Given the description of an element on the screen output the (x, y) to click on. 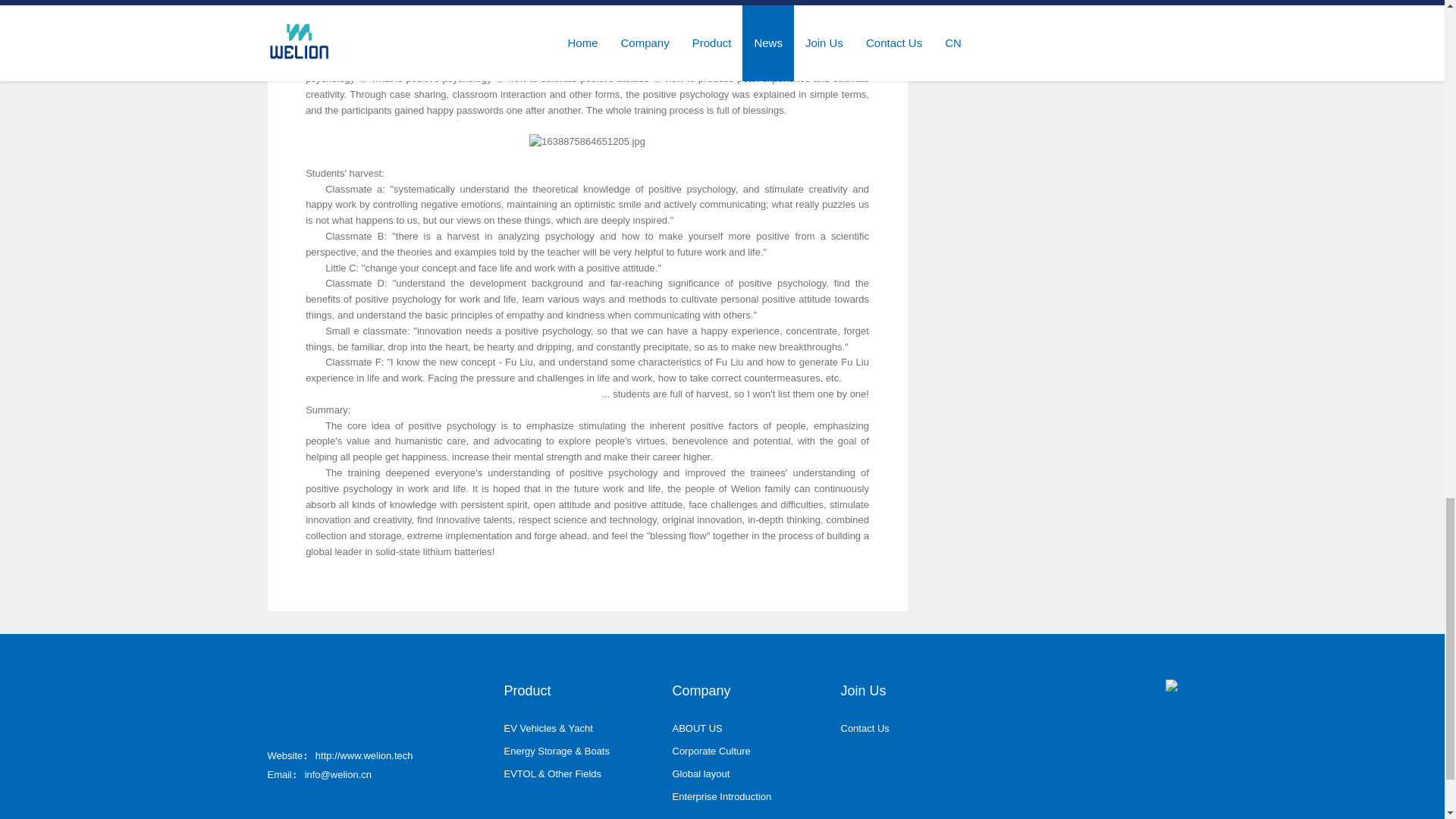
1638875802858292.jpg (587, 4)
1638875864651205.jpg (587, 141)
